Given the description of an element on the screen output the (x, y) to click on. 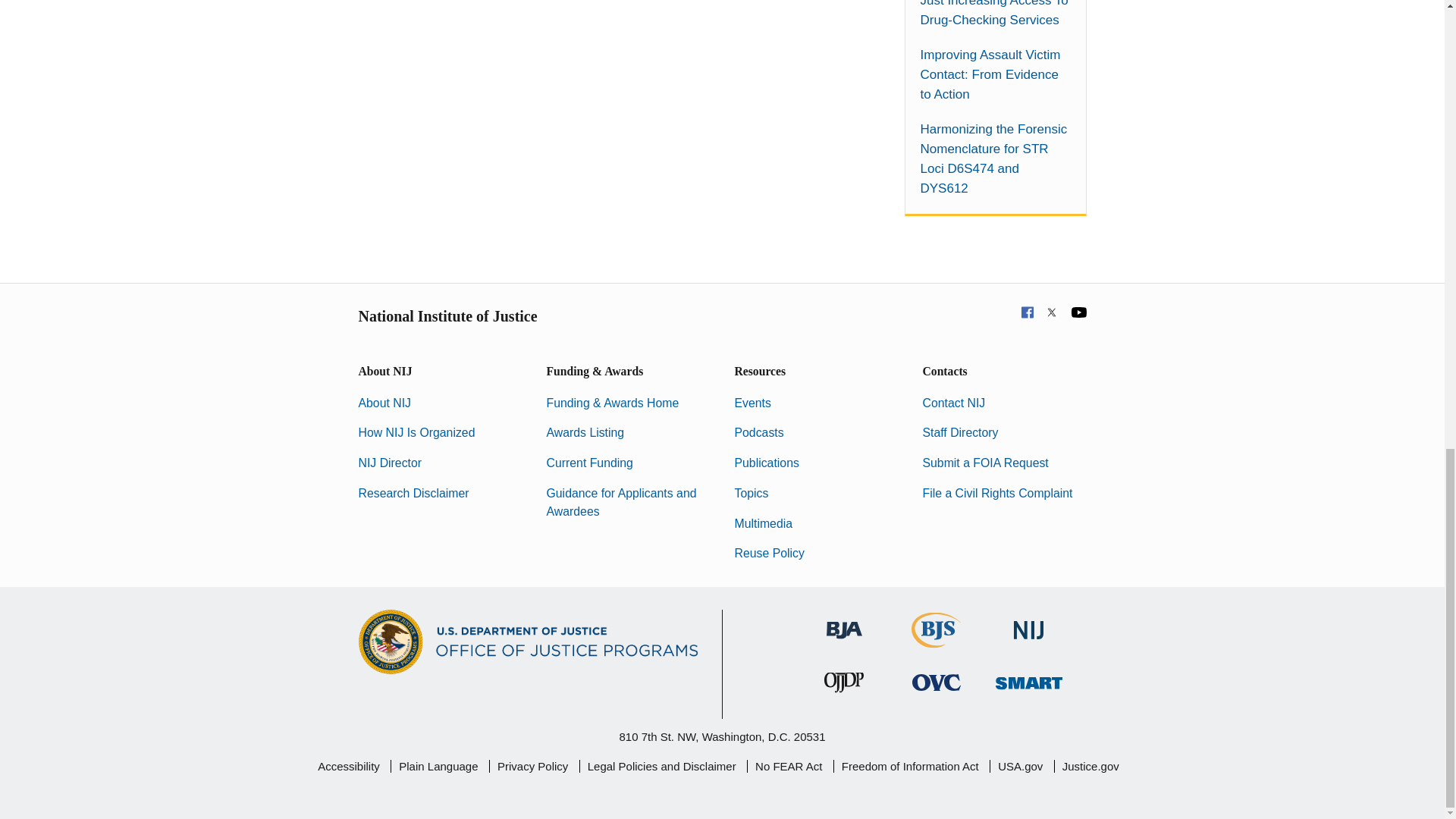
Improving Assault Victim Contact: From Evidence to Action (995, 74)
Just Increasing Access To Drug-Checking Services (995, 15)
